Given the description of an element on the screen output the (x, y) to click on. 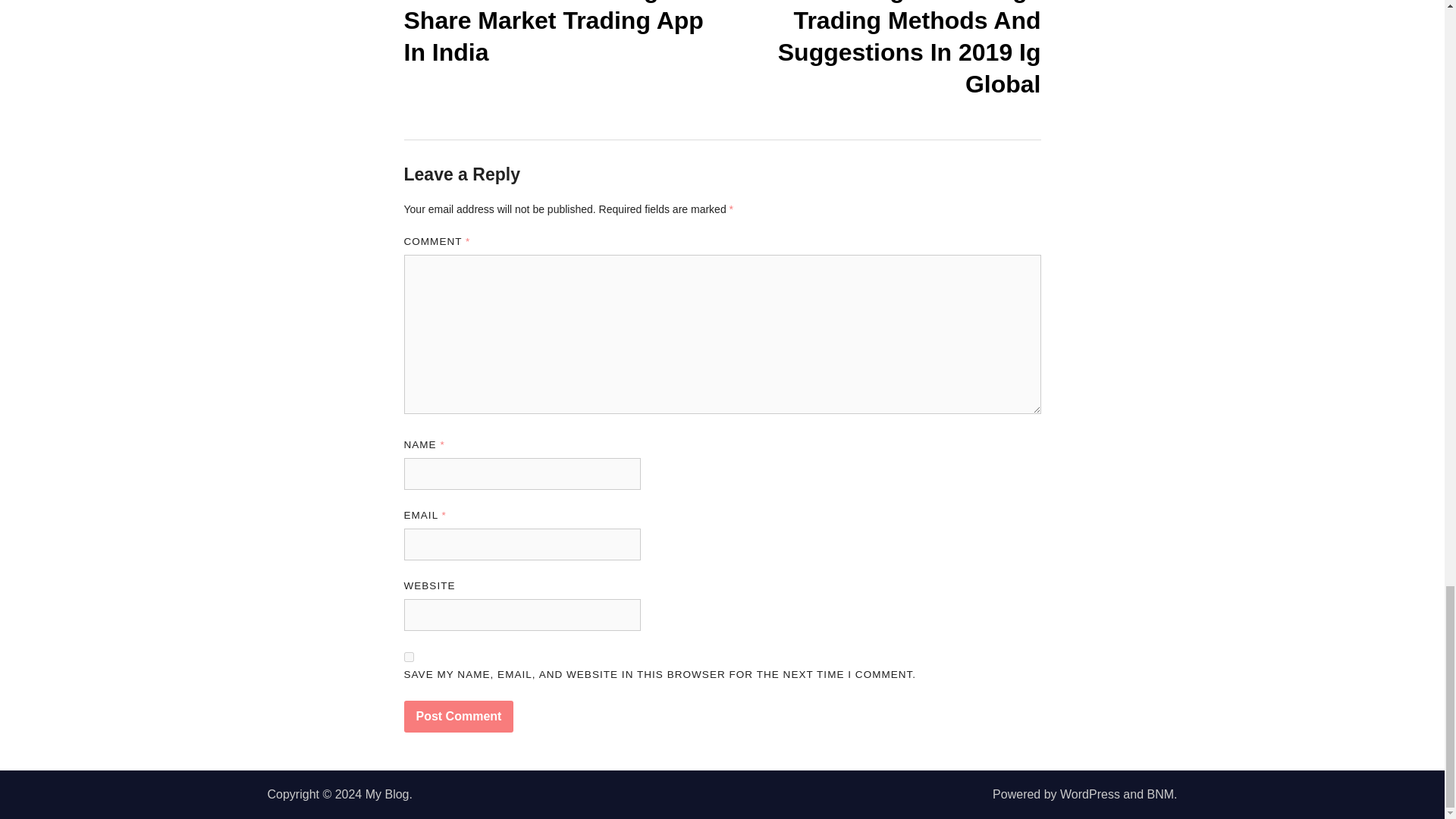
WordPress (1089, 793)
Post Comment (458, 716)
My Blog (387, 793)
yes (408, 656)
My Blog (387, 793)
Post Comment (458, 716)
BNM (1160, 793)
